Given the description of an element on the screen output the (x, y) to click on. 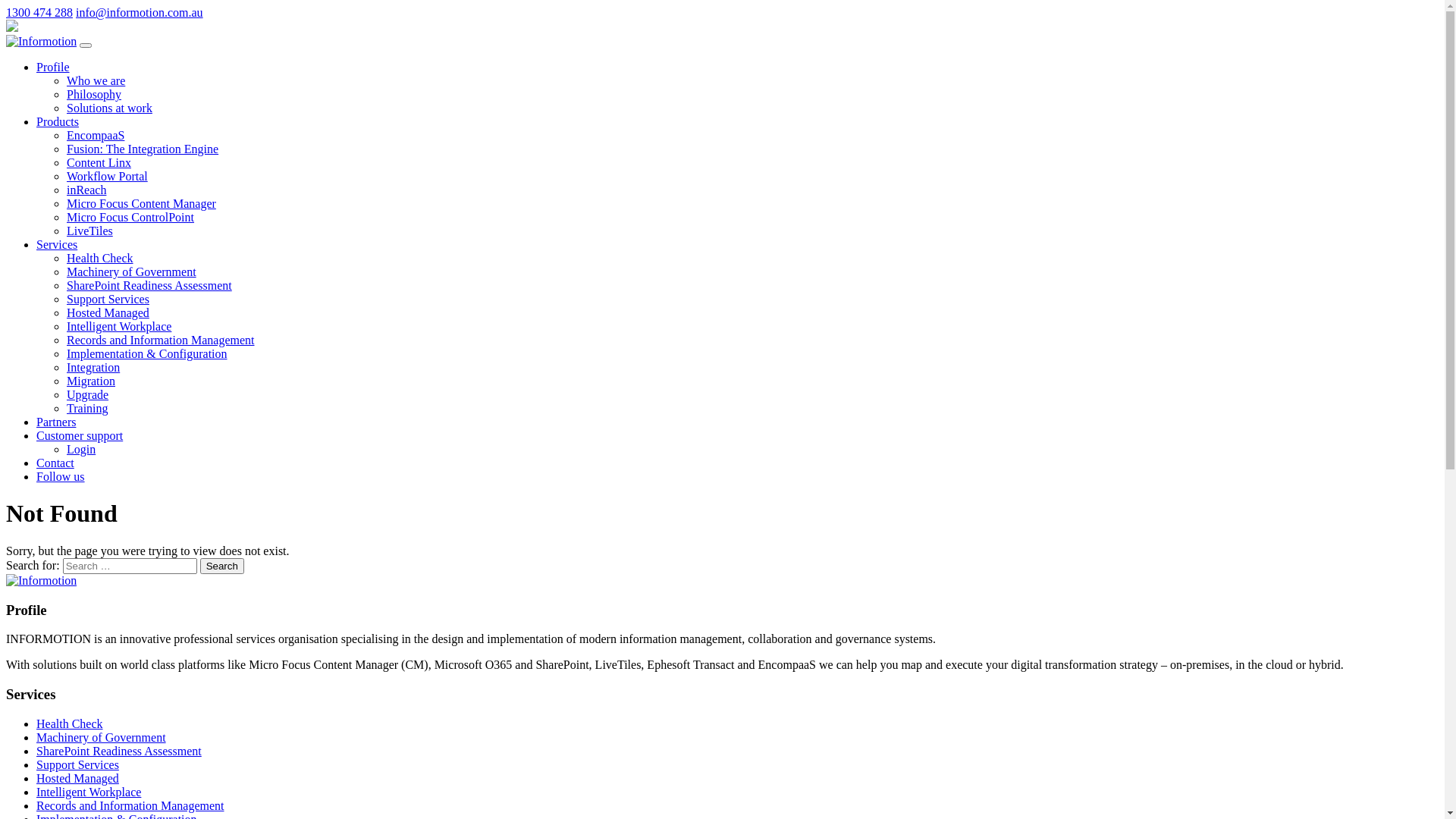
Health Check Element type: text (69, 723)
1300 474 288 Element type: text (39, 12)
Hosted Managed Element type: text (77, 777)
Profile Element type: text (52, 66)
Micro Focus ControlPoint Element type: text (130, 216)
Follow us Element type: text (60, 476)
Micro Focus Content Manager Element type: text (141, 203)
Intelligent Workplace Element type: text (88, 791)
Fusion: The Integration Engine Element type: text (142, 148)
Upgrade Element type: text (87, 394)
Partners Element type: text (55, 421)
Implementation & Configuration Element type: text (146, 353)
Machinery of Government Element type: text (101, 737)
Products Element type: text (57, 121)
Machinery of Government Element type: text (131, 271)
Solutions at work Element type: text (109, 107)
Customer support Element type: text (79, 435)
SharePoint Readiness Assessment Element type: text (149, 285)
Training Element type: text (87, 407)
Workflow Portal Element type: text (106, 175)
Records and Information Management Element type: text (129, 805)
EncompaaS Element type: text (95, 134)
info@informotion.com.au Element type: text (139, 12)
Hosted Managed Element type: text (107, 312)
Search Element type: text (222, 566)
Support Services Element type: text (107, 298)
Intelligent Workplace Element type: text (118, 326)
Content Linx Element type: text (98, 162)
Services Element type: text (56, 244)
Who we are Element type: text (95, 80)
inReach Element type: text (86, 189)
Login Element type: text (80, 448)
Health Check Element type: text (99, 257)
LiveTiles Element type: text (89, 230)
Contact Element type: text (55, 462)
SharePoint Readiness Assessment Element type: text (118, 750)
Integration Element type: text (92, 366)
Support Services Element type: text (77, 764)
Records and Information Management Element type: text (160, 339)
Migration Element type: text (90, 380)
Philosophy Element type: text (93, 93)
